Given the description of an element on the screen output the (x, y) to click on. 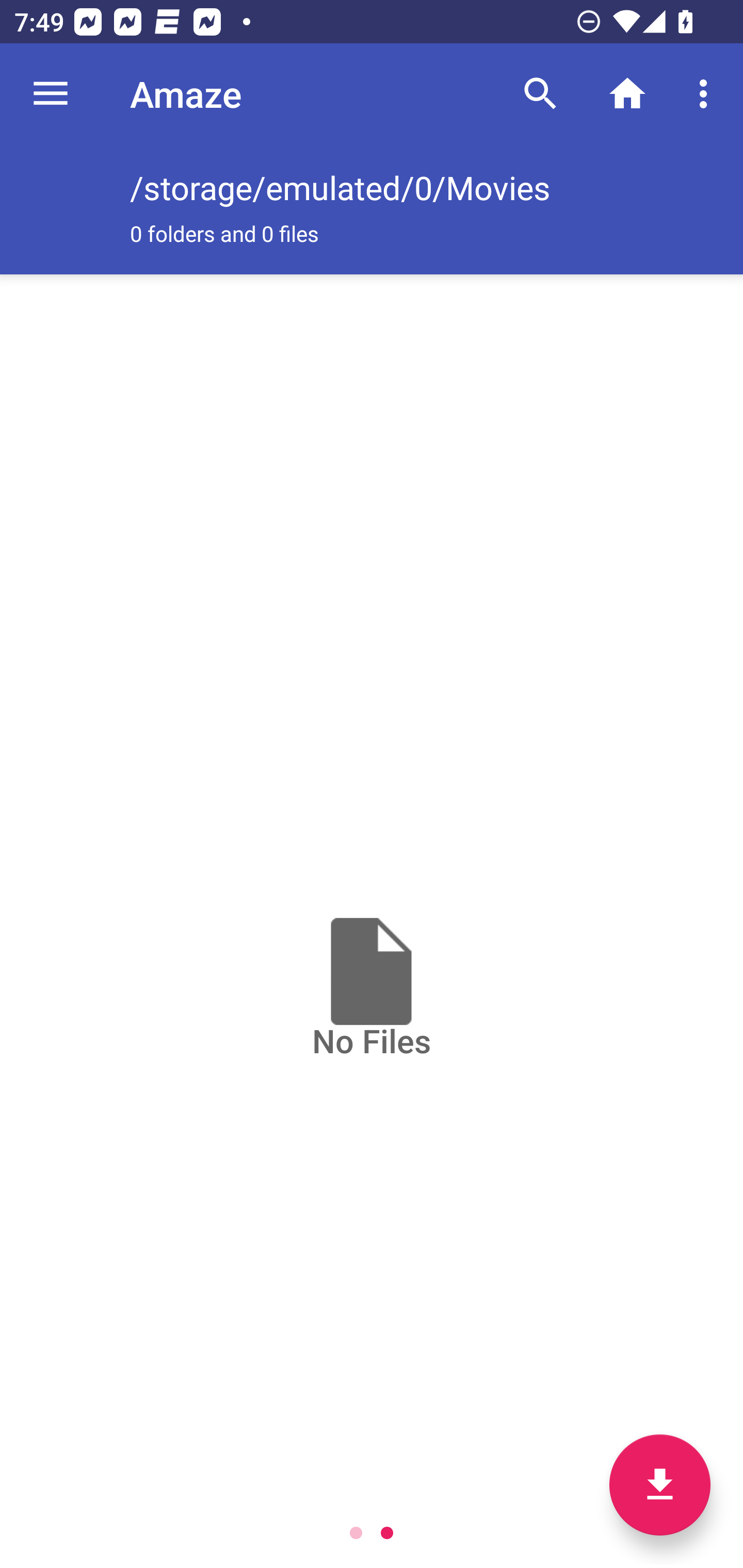
Navigate up (50, 93)
Search (540, 93)
Home (626, 93)
More options (706, 93)
